Given the description of an element on the screen output the (x, y) to click on. 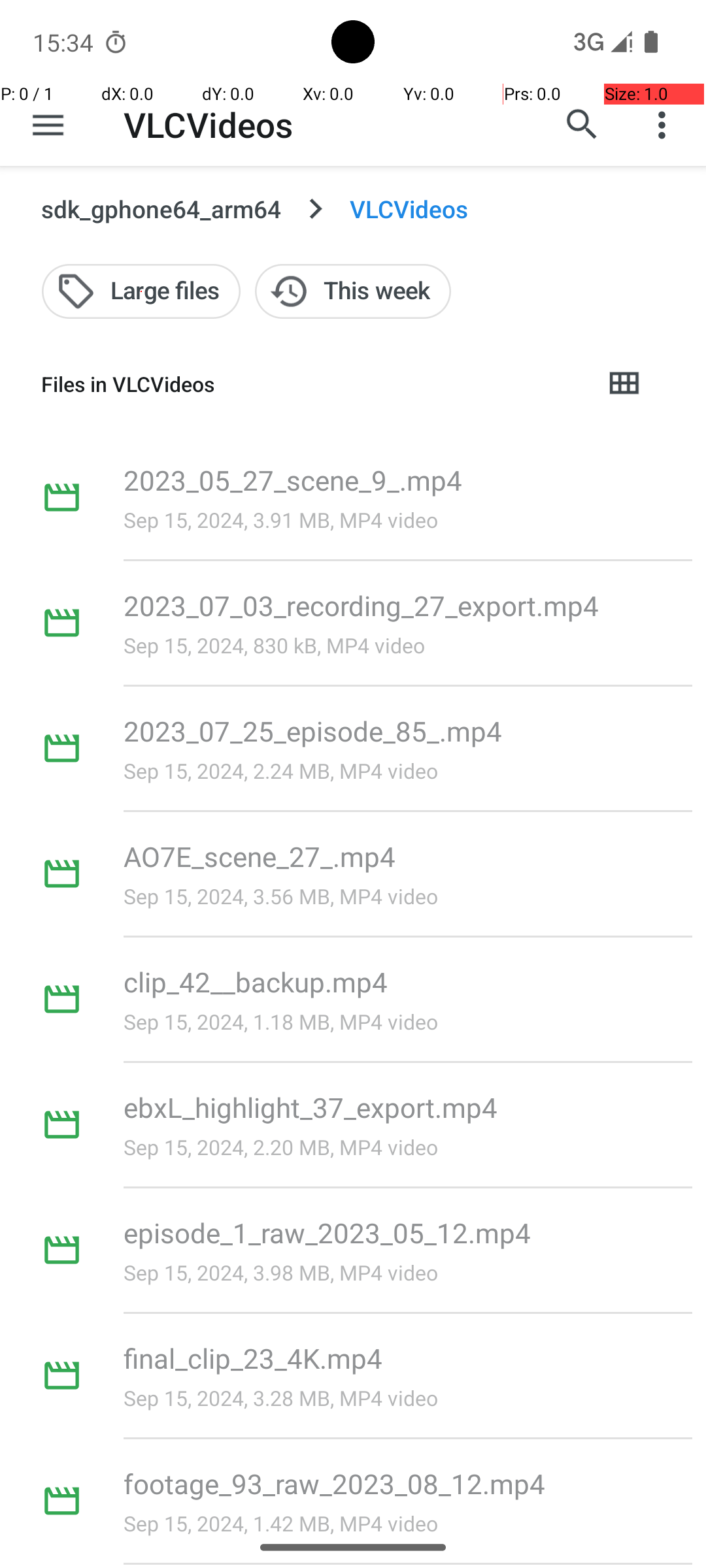
Files in VLCVideos Element type: android.widget.TextView (311, 383)
2023_05_27_scene_9_.mp4 Element type: android.widget.TextView (292, 479)
Sep 15, 2024, 3.91 MB, MP4 video Element type: android.widget.TextView (280, 519)
2023_07_03_recording_27_export.mp4 Element type: android.widget.TextView (361, 604)
Sep 15, 2024, 830 kB, MP4 video Element type: android.widget.TextView (273, 645)
2023_07_25_episode_85_.mp4 Element type: android.widget.TextView (312, 730)
Sep 15, 2024, 2.24 MB, MP4 video Element type: android.widget.TextView (280, 770)
AO7E_scene_27_.mp4 Element type: android.widget.TextView (259, 855)
Sep 15, 2024, 3.56 MB, MP4 video Element type: android.widget.TextView (280, 896)
clip_42__backup.mp4 Element type: android.widget.TextView (255, 981)
Sep 15, 2024, 1.18 MB, MP4 video Element type: android.widget.TextView (280, 1021)
ebxL_highlight_37_export.mp4 Element type: android.widget.TextView (310, 1106)
Sep 15, 2024, 2.20 MB, MP4 video Element type: android.widget.TextView (280, 1146)
episode_1_raw_2023_05_12.mp4 Element type: android.widget.TextView (327, 1232)
Sep 15, 2024, 3.98 MB, MP4 video Element type: android.widget.TextView (280, 1272)
final_clip_23_4K.mp4 Element type: android.widget.TextView (252, 1357)
Sep 15, 2024, 3.28 MB, MP4 video Element type: android.widget.TextView (280, 1397)
footage_93_raw_2023_08_12.mp4 Element type: android.widget.TextView (334, 1483)
Sep 15, 2024, 1.42 MB, MP4 video Element type: android.widget.TextView (280, 1523)
